Given the description of an element on the screen output the (x, y) to click on. 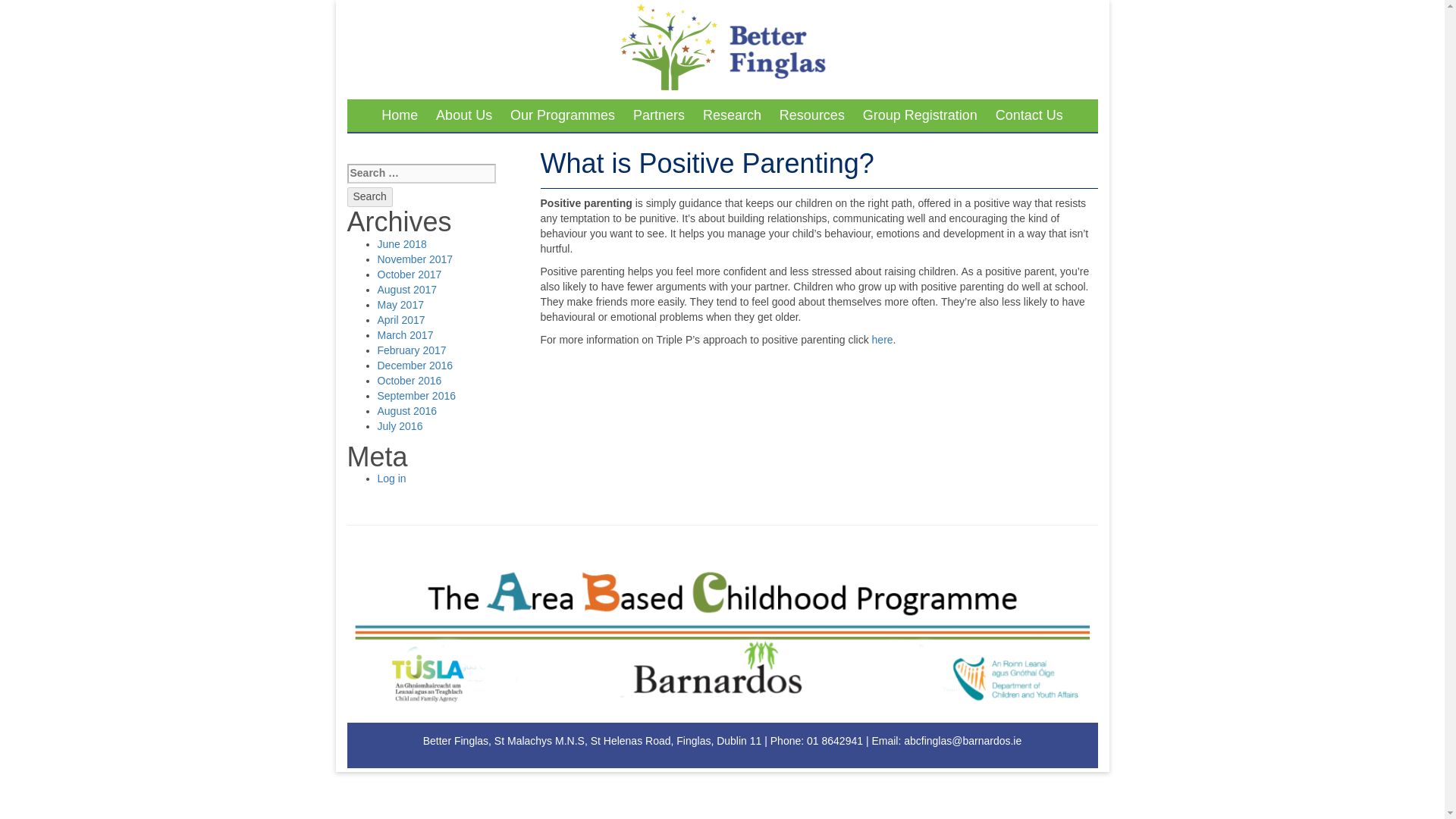
Our Programmes (562, 115)
Partners (659, 115)
About Us (463, 115)
Search (370, 197)
Home (399, 115)
Search (370, 197)
